Given the description of an element on the screen output the (x, y) to click on. 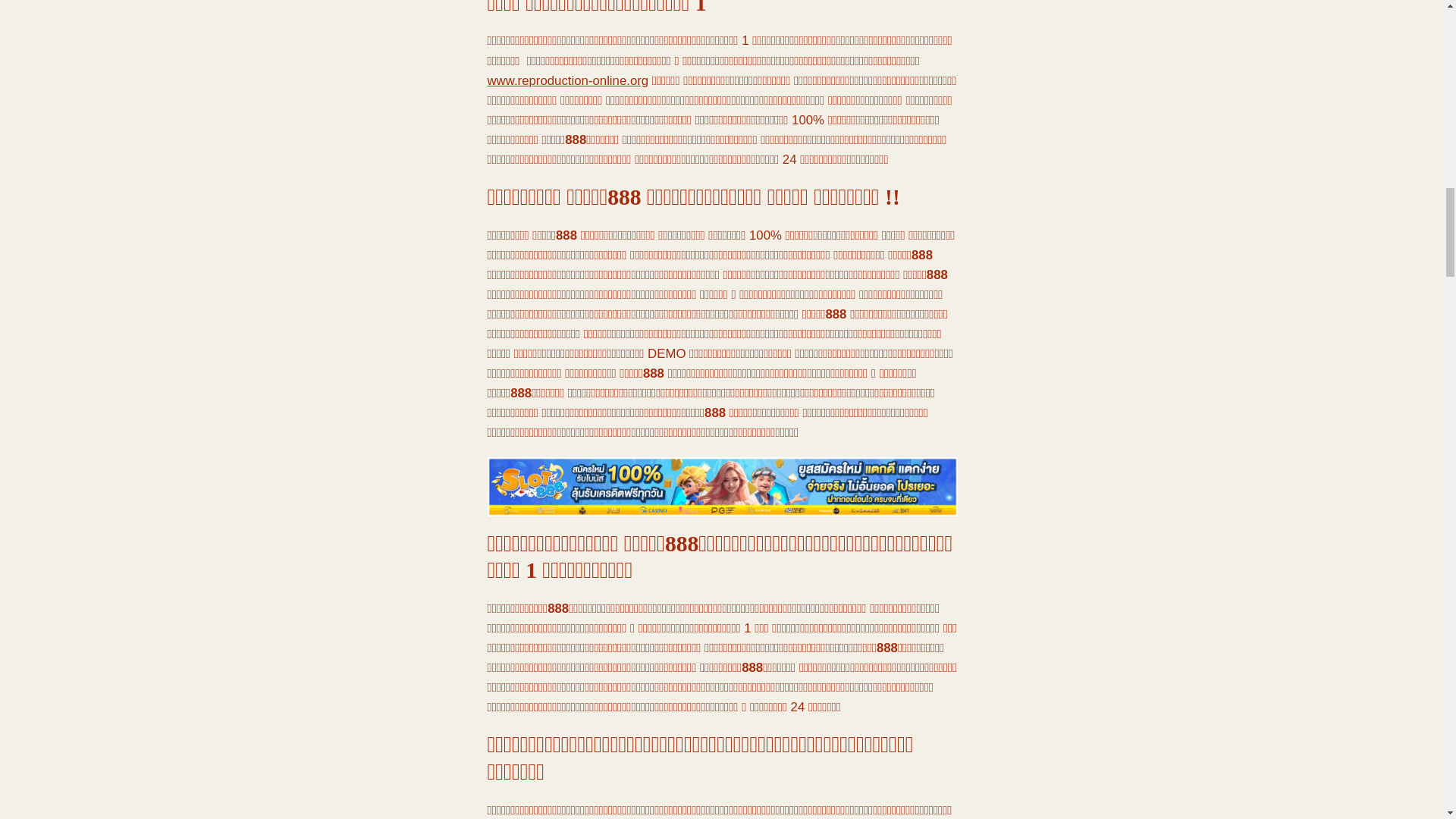
www.reproduction-online.org (566, 80)
